Given the description of an element on the screen output the (x, y) to click on. 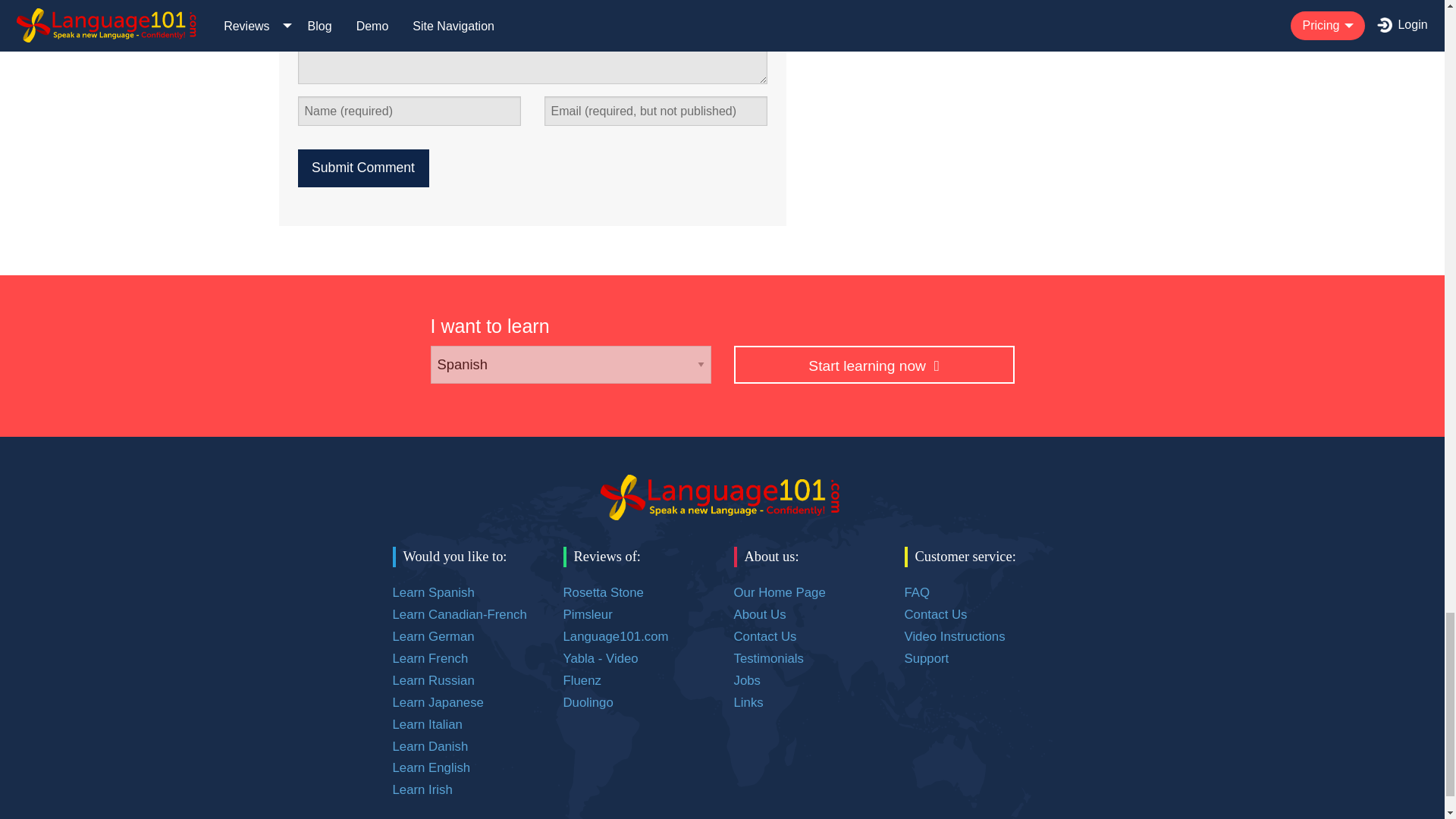
Submit Comment (362, 168)
Submit Comment (362, 168)
